Given the description of an element on the screen output the (x, y) to click on. 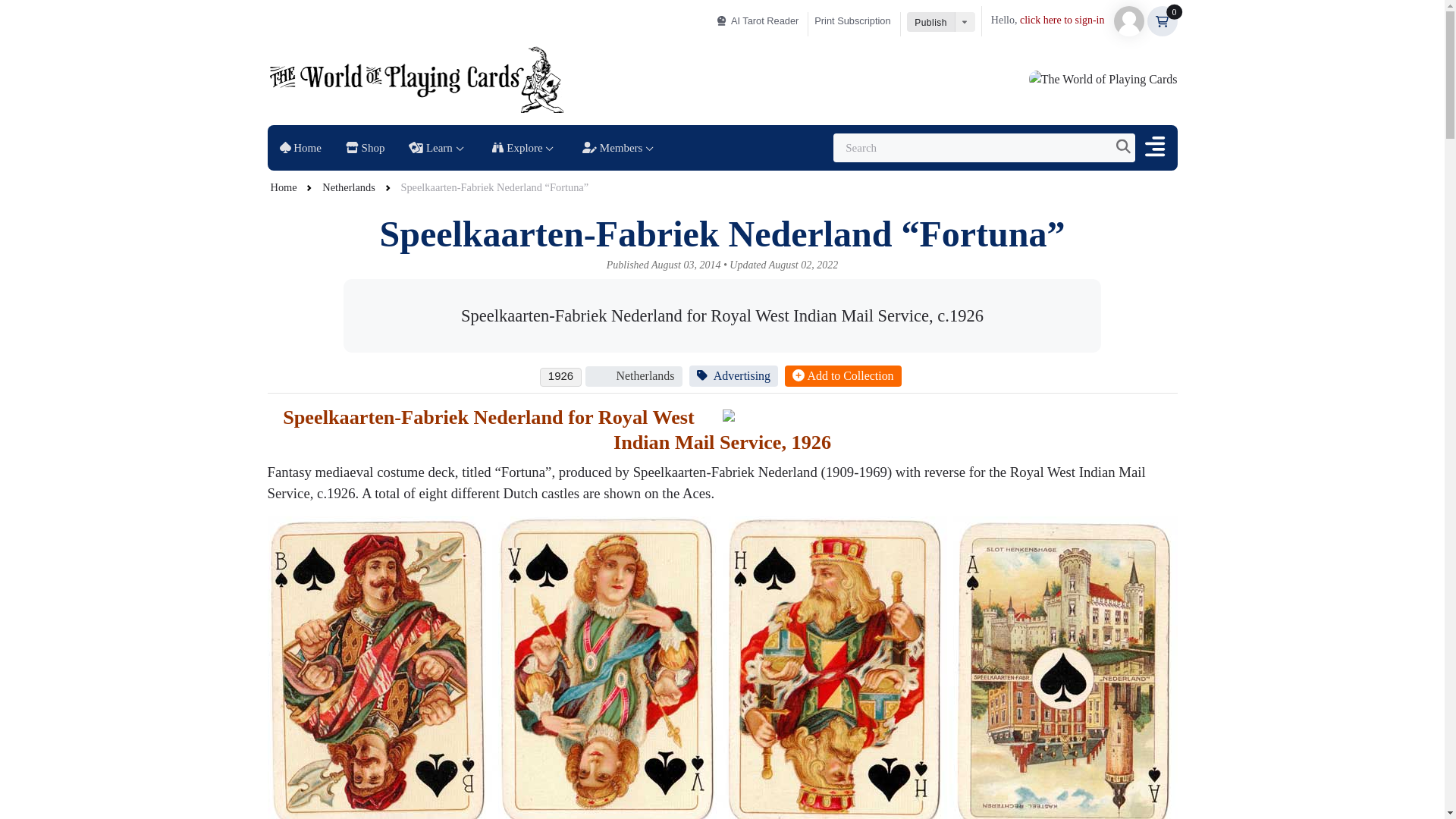
Print Subscription (856, 21)
Publish (931, 21)
click here to sign-in (1062, 19)
Toggle Dropdown (965, 21)
Home (299, 147)
Learn (438, 147)
AI Tarot Reader (462, 147)
Shop (757, 21)
